Given the description of an element on the screen output the (x, y) to click on. 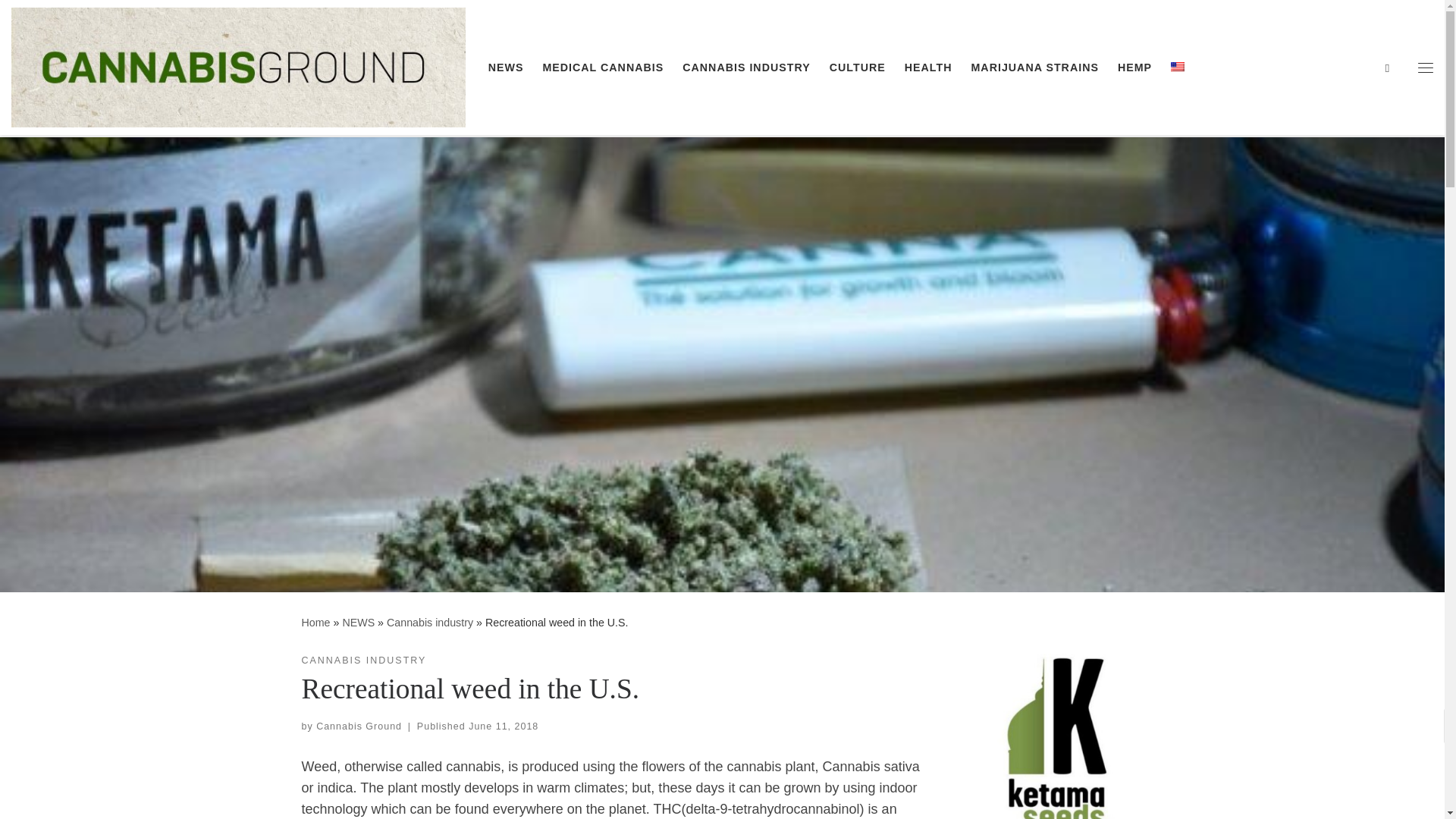
00:16 (503, 726)
NEWS (358, 622)
Cannabis Ground (358, 726)
CANNABIS INDUSTRY (363, 660)
Home (315, 622)
Cannabis industry (430, 622)
MEDICAL CANNABIS (602, 67)
Skip to content (60, 20)
Cannabis industry (430, 622)
Cannabis Ground (315, 622)
